Given the description of an element on the screen output the (x, y) to click on. 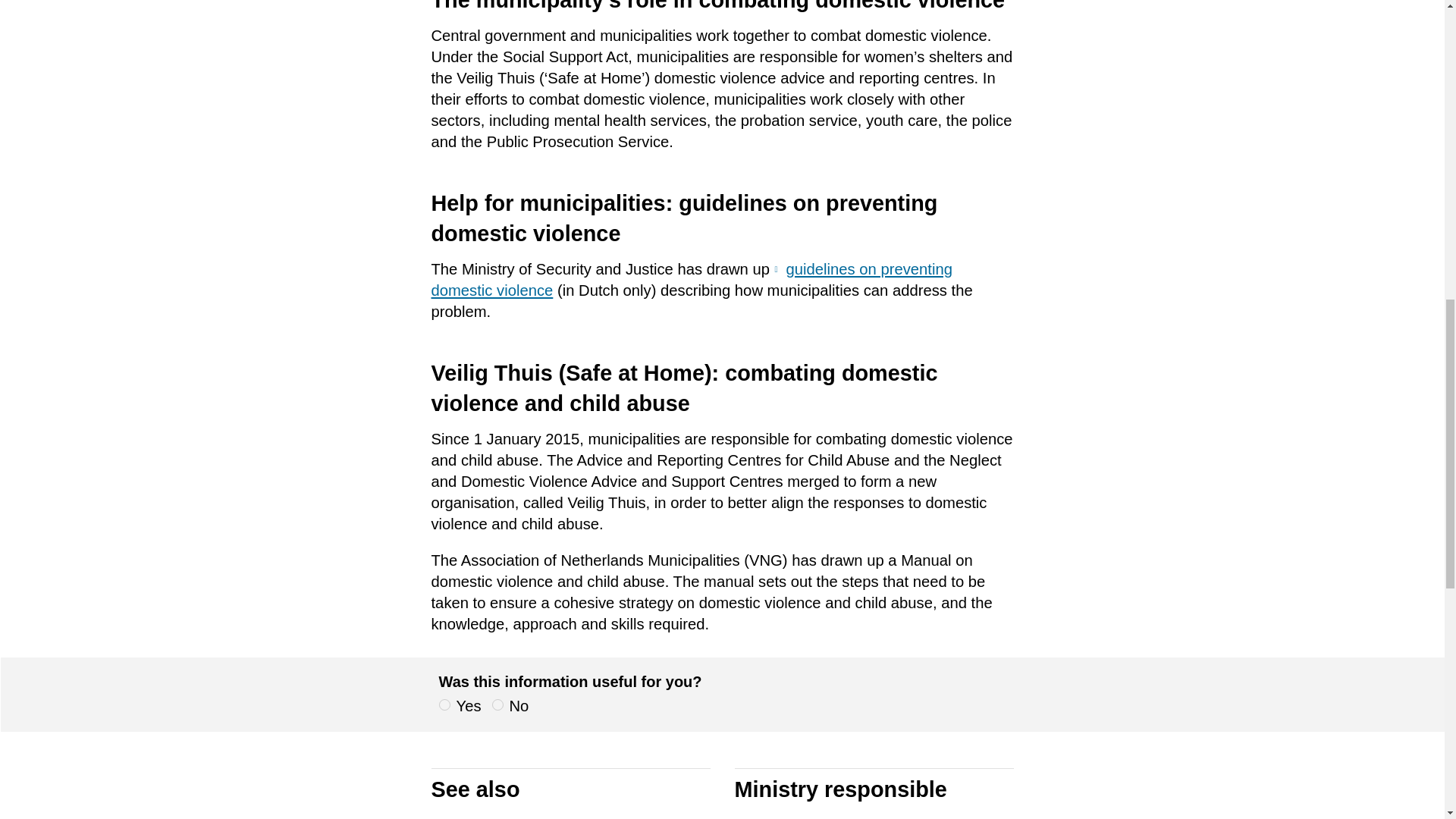
nee (497, 704)
guidelines on preventing domestic violence (691, 279)
ja (443, 704)
